Given the description of an element on the screen output the (x, y) to click on. 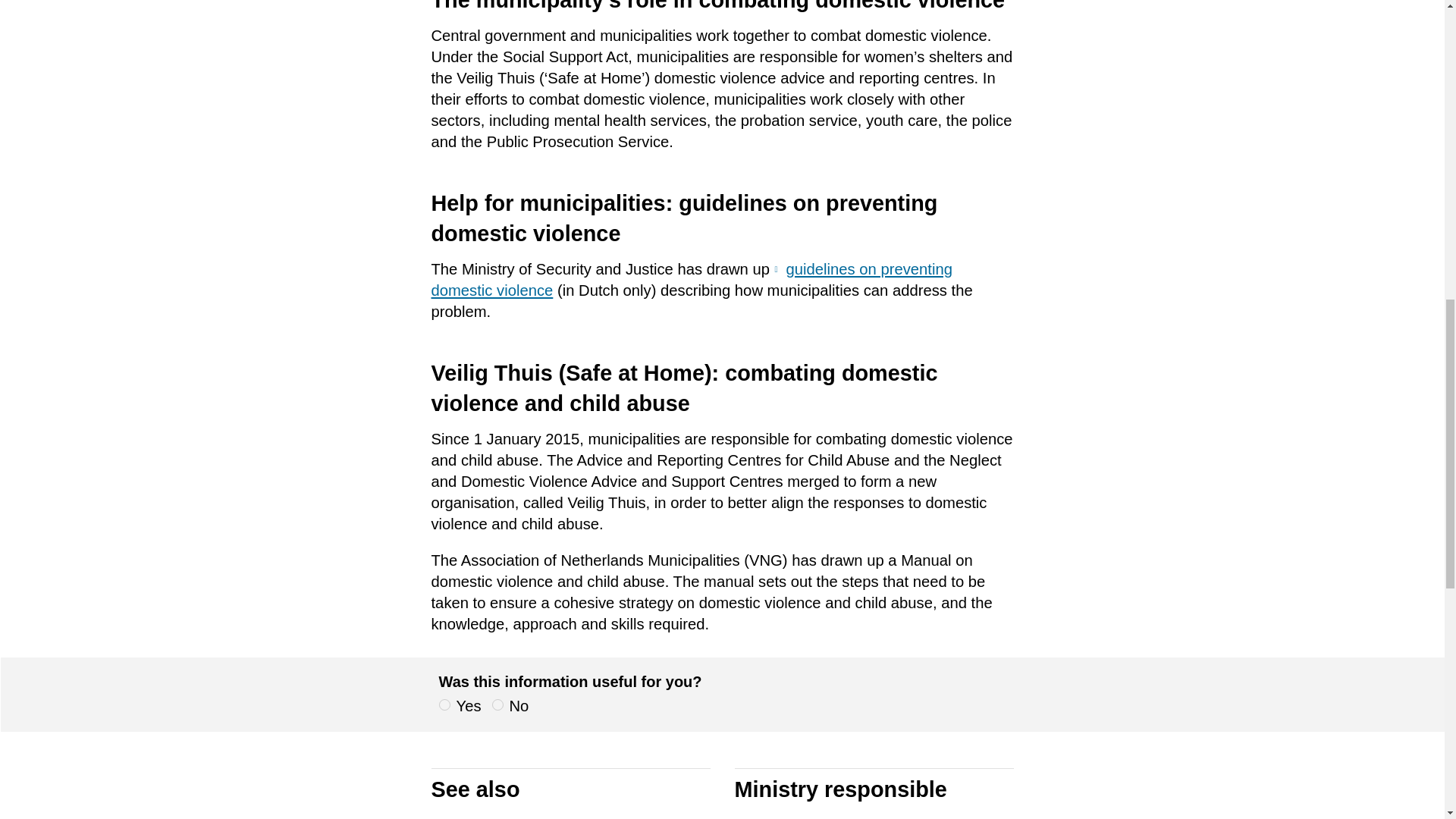
nee (497, 704)
guidelines on preventing domestic violence (691, 279)
ja (443, 704)
